Given the description of an element on the screen output the (x, y) to click on. 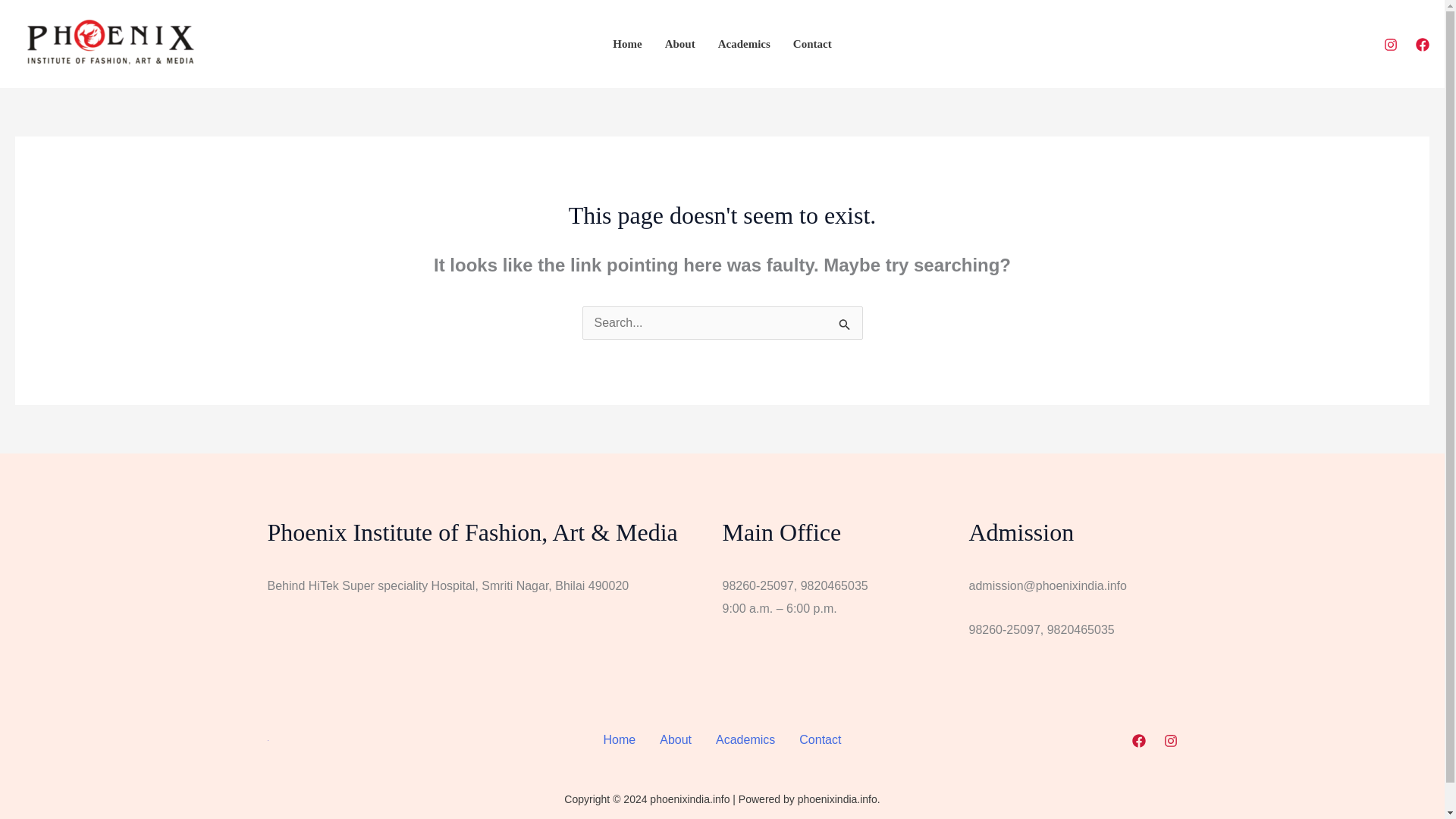
Academics (745, 739)
Contact (820, 739)
Academics (743, 43)
About (675, 739)
Home (619, 739)
